Given the description of an element on the screen output the (x, y) to click on. 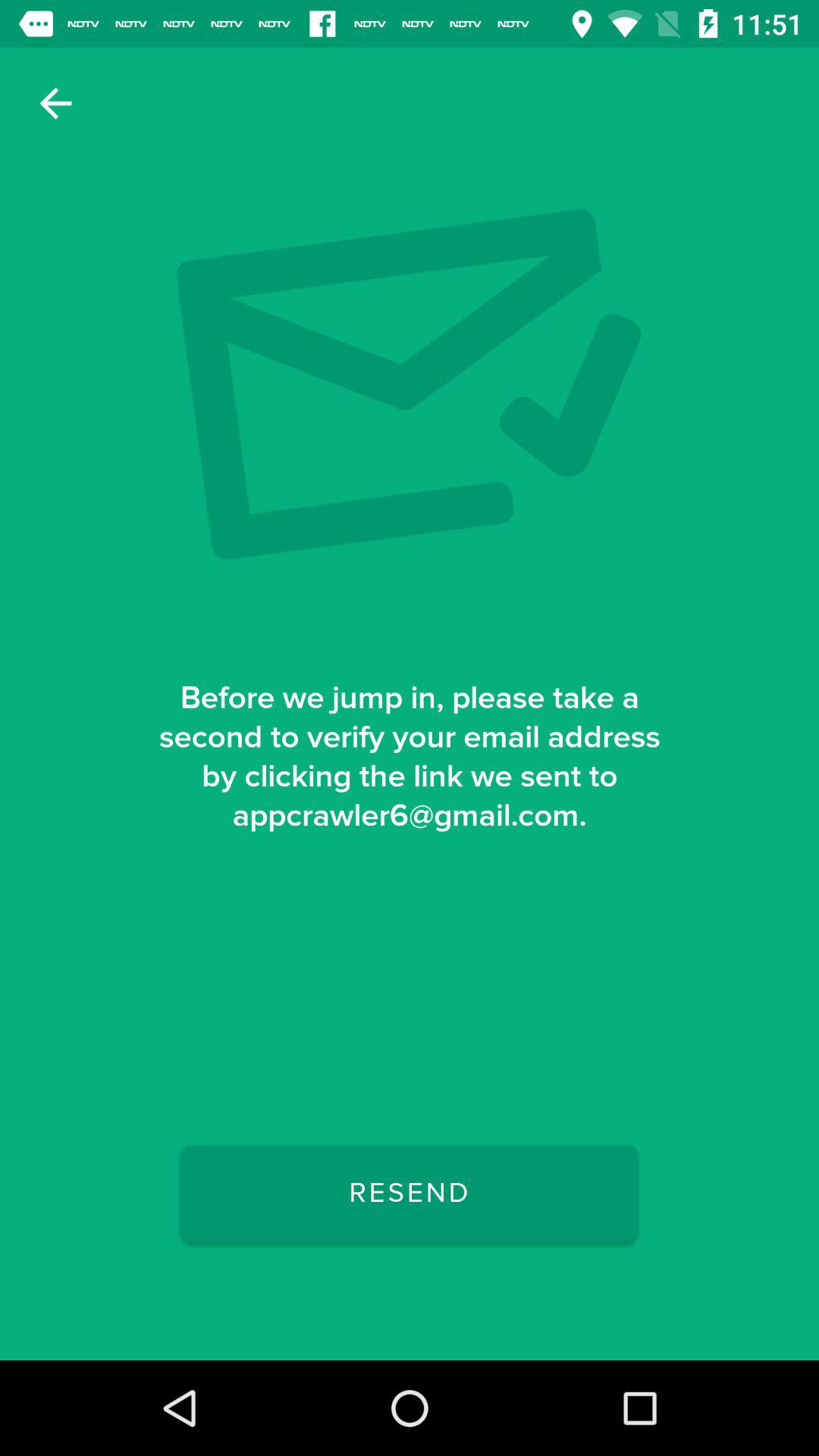
turn off the resend item (409, 1193)
